Given the description of an element on the screen output the (x, y) to click on. 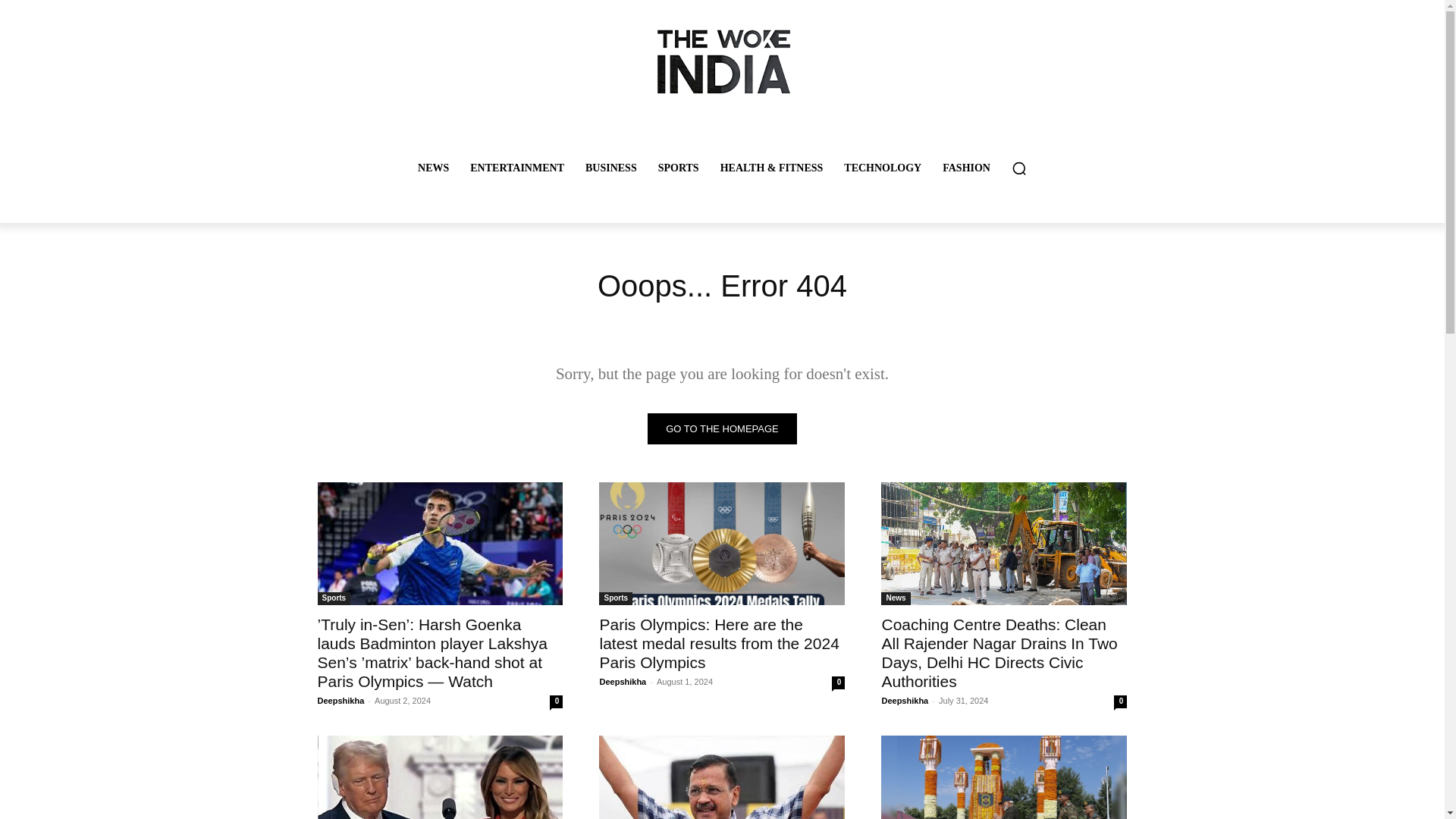
0 (1119, 701)
FASHION (966, 167)
Sports (333, 598)
TECHNOLOGY (881, 167)
NEWS (433, 167)
Deepshikha (622, 681)
SPORTS (678, 167)
Sports (614, 598)
News (895, 598)
Deepshikha (340, 700)
Go to the homepage (721, 428)
